Given the description of an element on the screen output the (x, y) to click on. 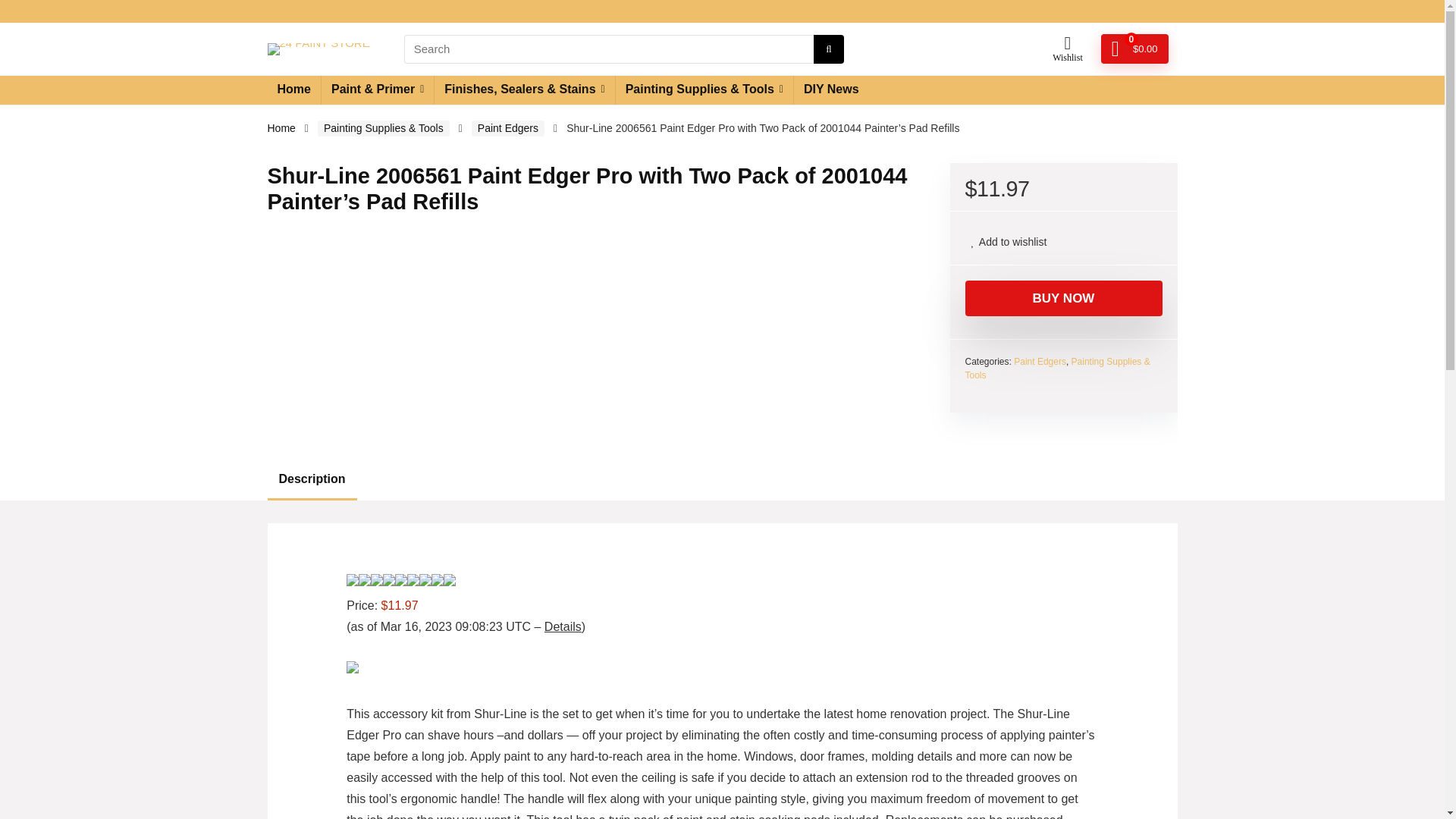
Paint Edgers (1039, 361)
DIY News (831, 90)
Description (721, 478)
Home (280, 128)
Paint Edgers (507, 128)
BUY NOW (1062, 298)
Description (311, 478)
Home (293, 90)
